Given the description of an element on the screen output the (x, y) to click on. 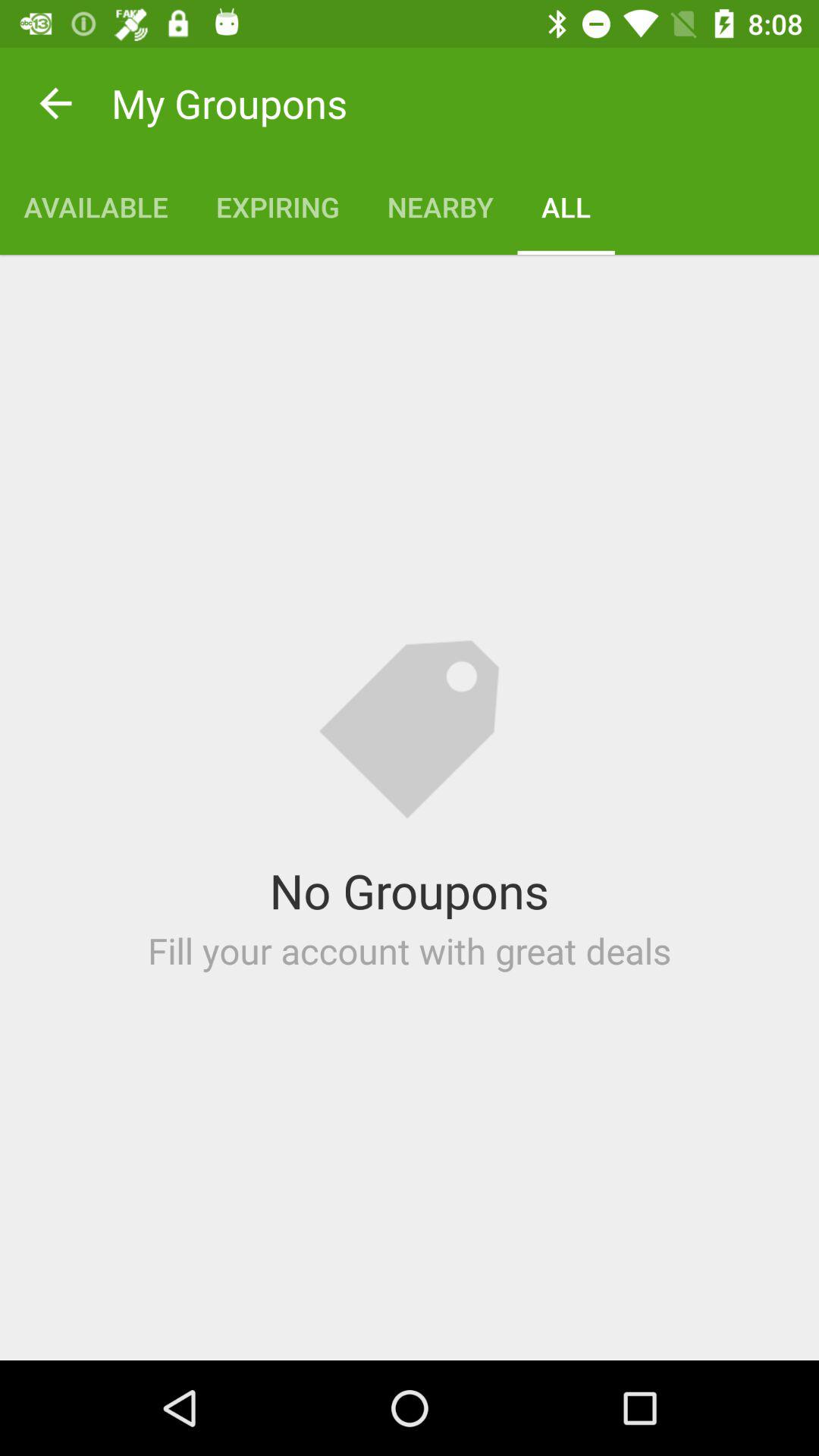
turn on icon to the left of the expiring app (96, 206)
